Given the description of an element on the screen output the (x, y) to click on. 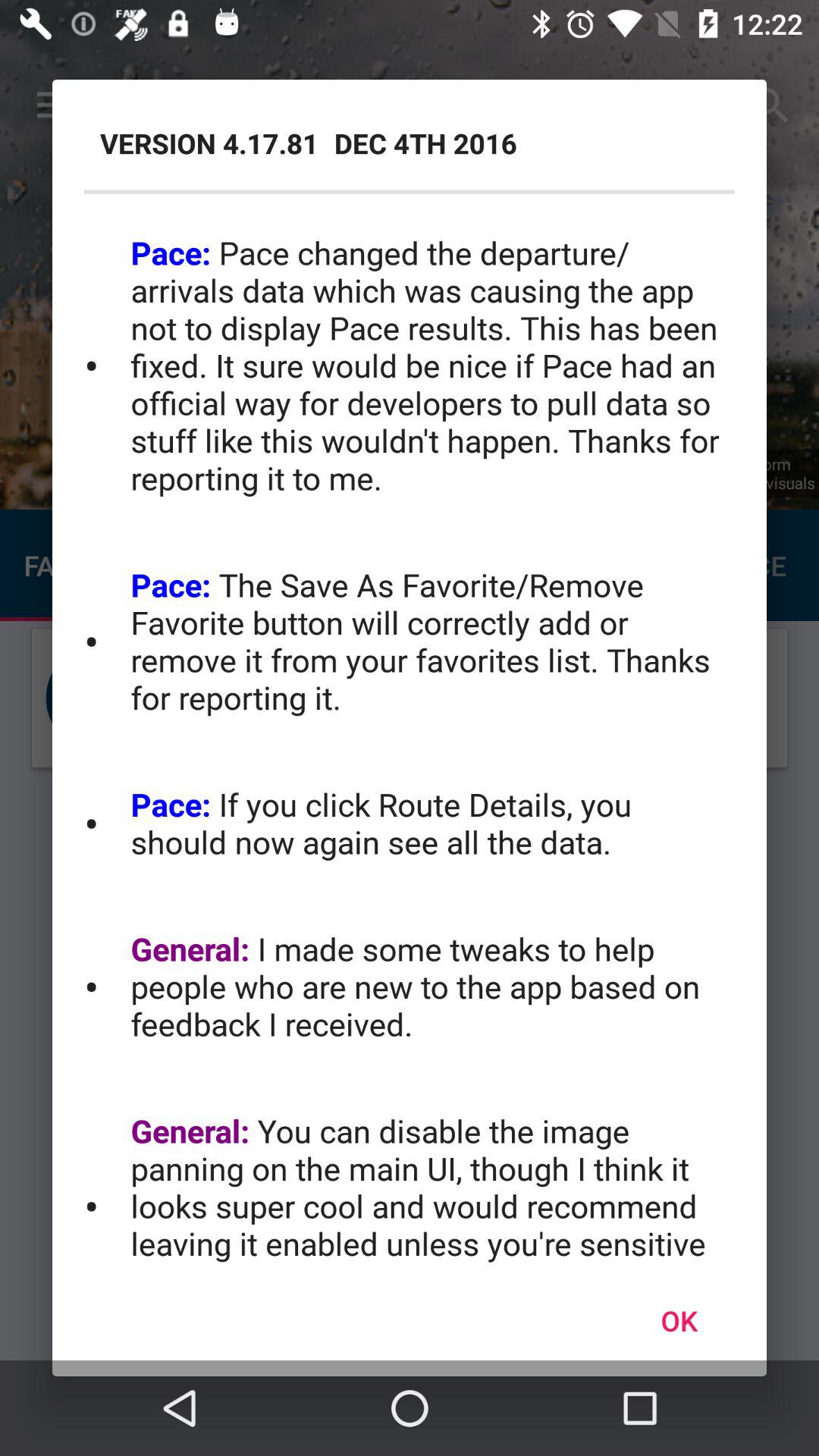
select icon at the bottom right corner (678, 1320)
